Given the description of an element on the screen output the (x, y) to click on. 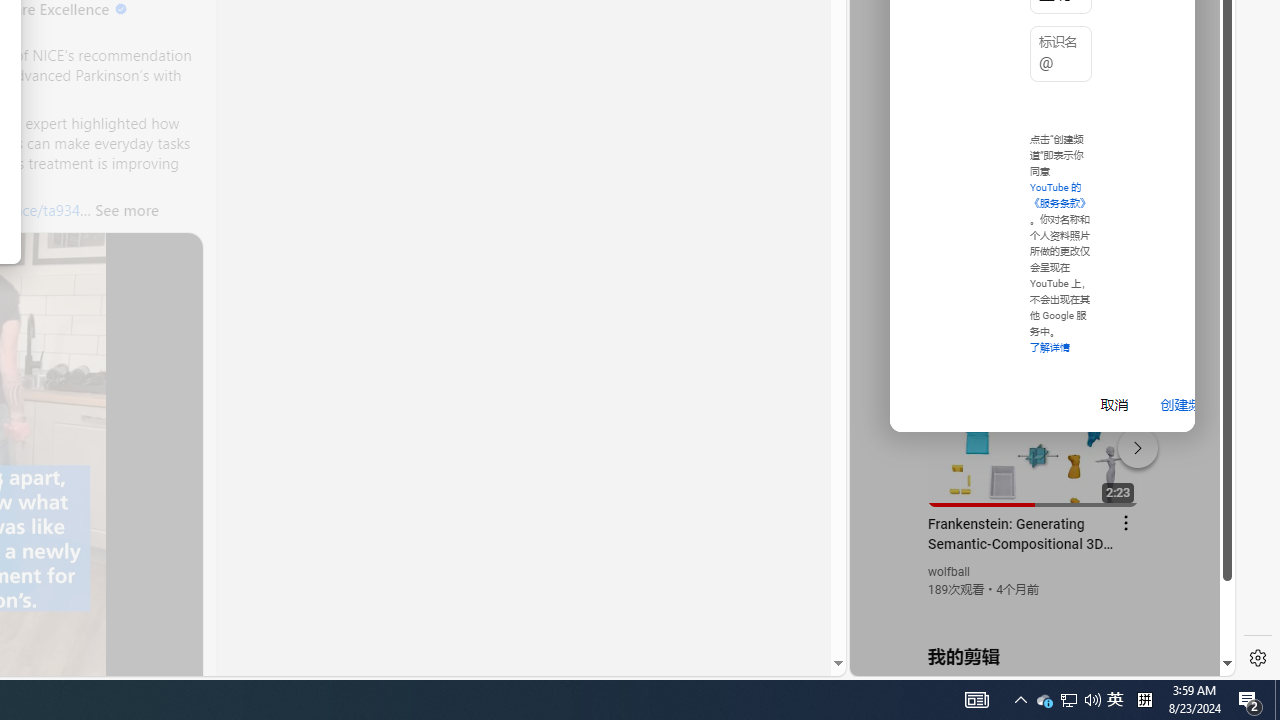
wolfball (949, 572)
